Given the description of an element on the screen output the (x, y) to click on. 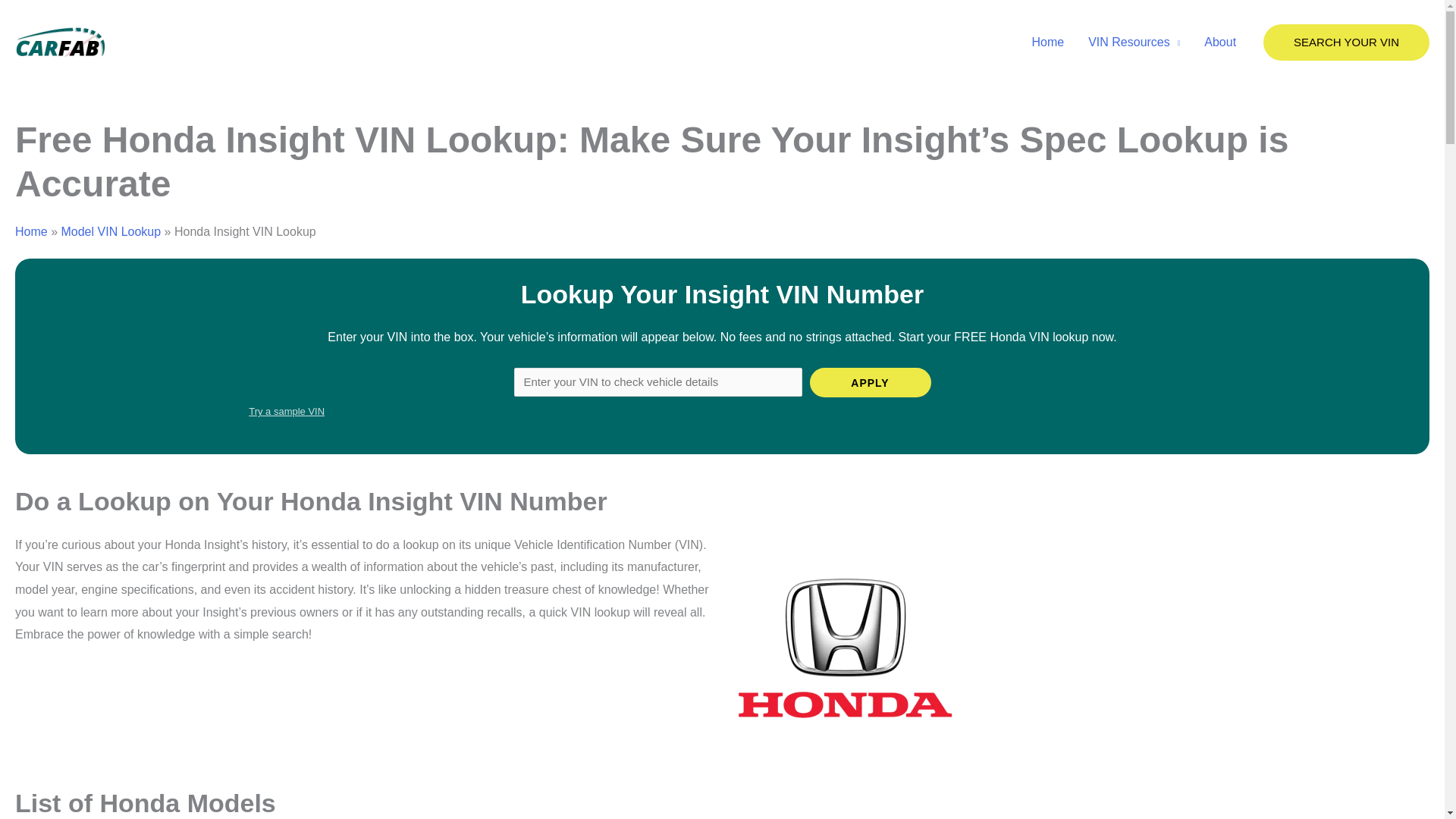
APPLY (870, 382)
VIN Resources (1133, 41)
Home (31, 231)
About (1219, 41)
SEARCH YOUR VIN (1346, 42)
Model VIN Lookup (110, 231)
Home (1047, 41)
